Given the description of an element on the screen output the (x, y) to click on. 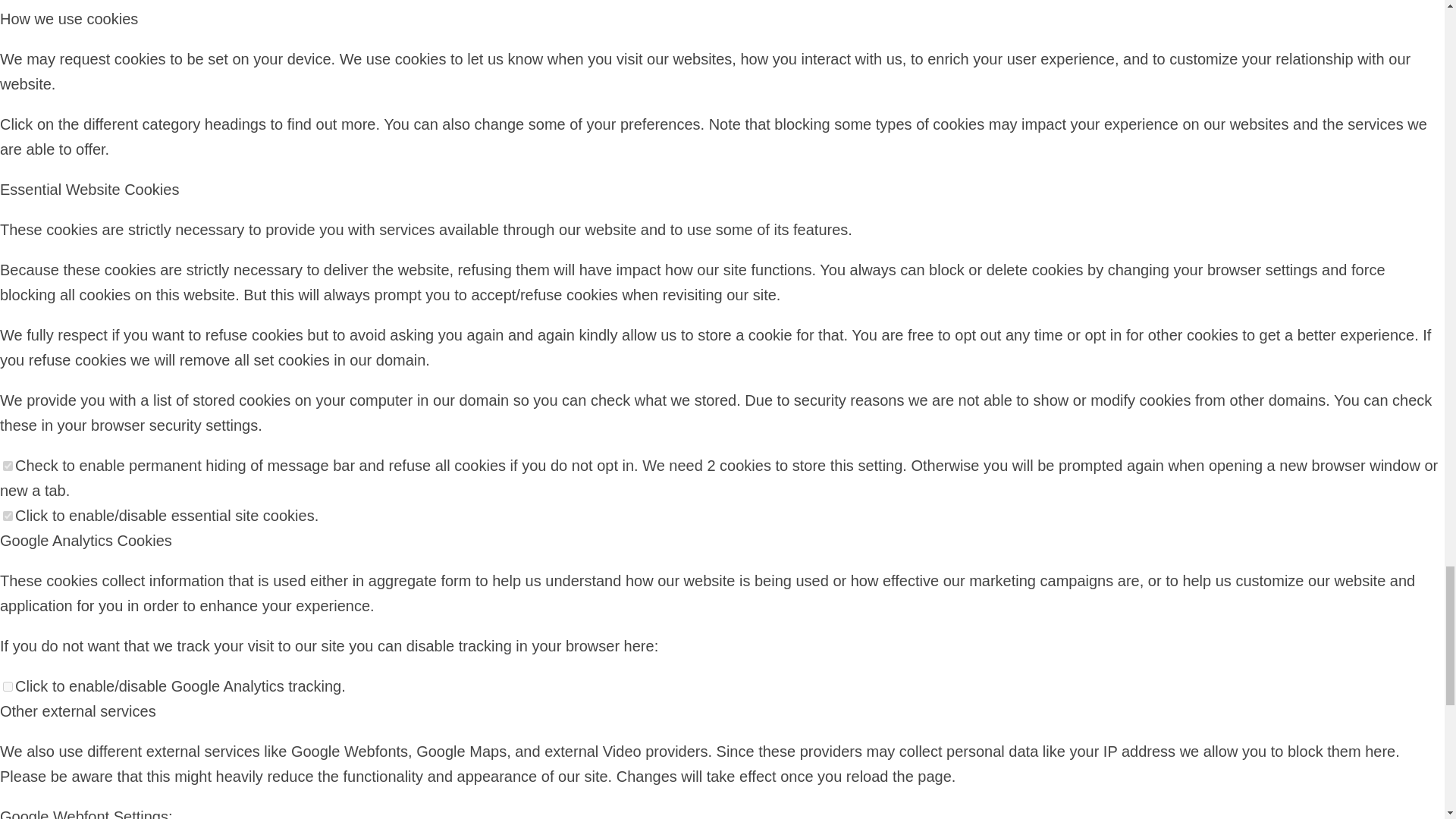
on (7, 515)
on (7, 465)
on (7, 686)
